Given the description of an element on the screen output the (x, y) to click on. 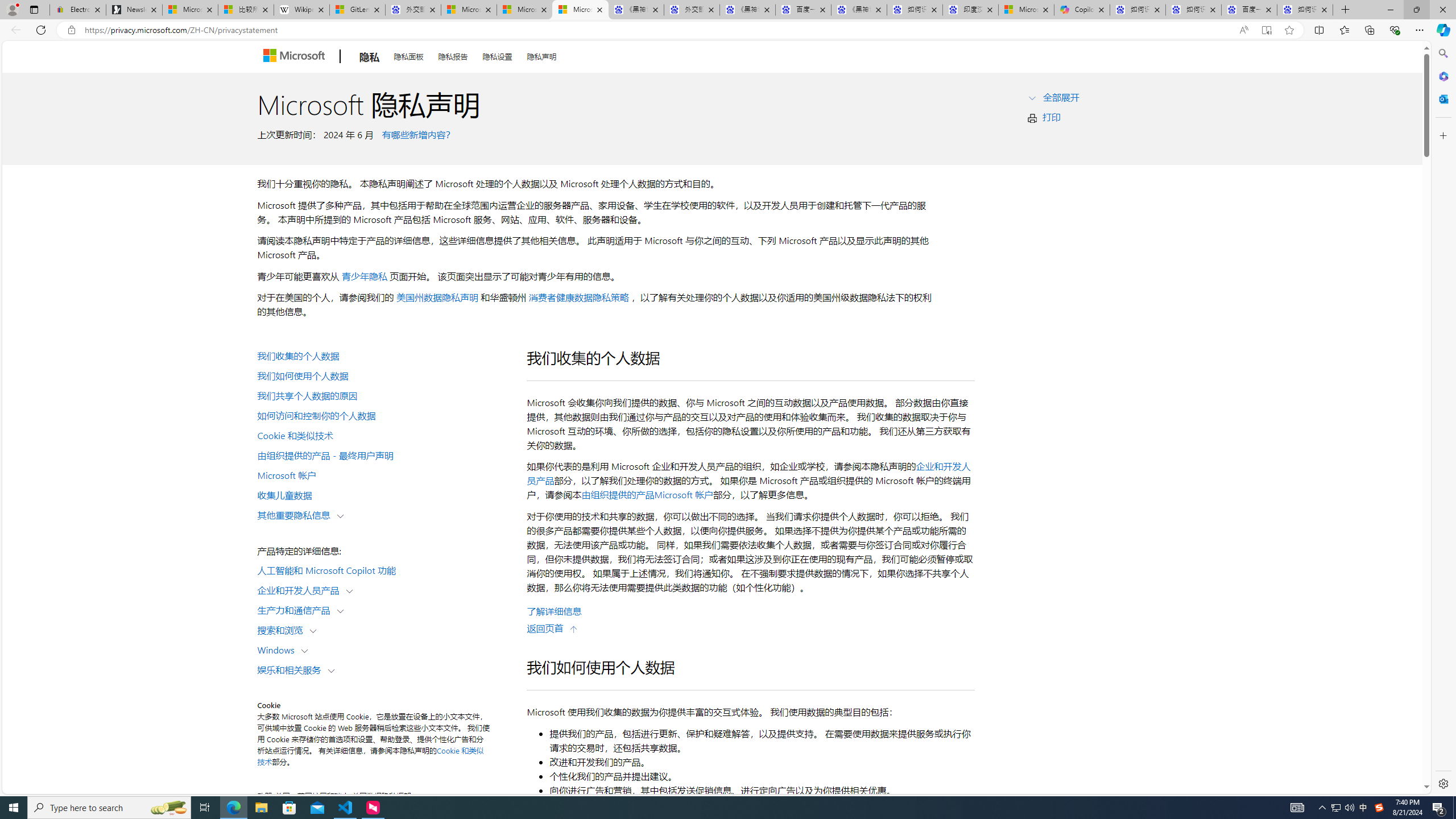
Newsletter Sign Up (134, 9)
Microsoft (295, 56)
